Given the description of an element on the screen output the (x, y) to click on. 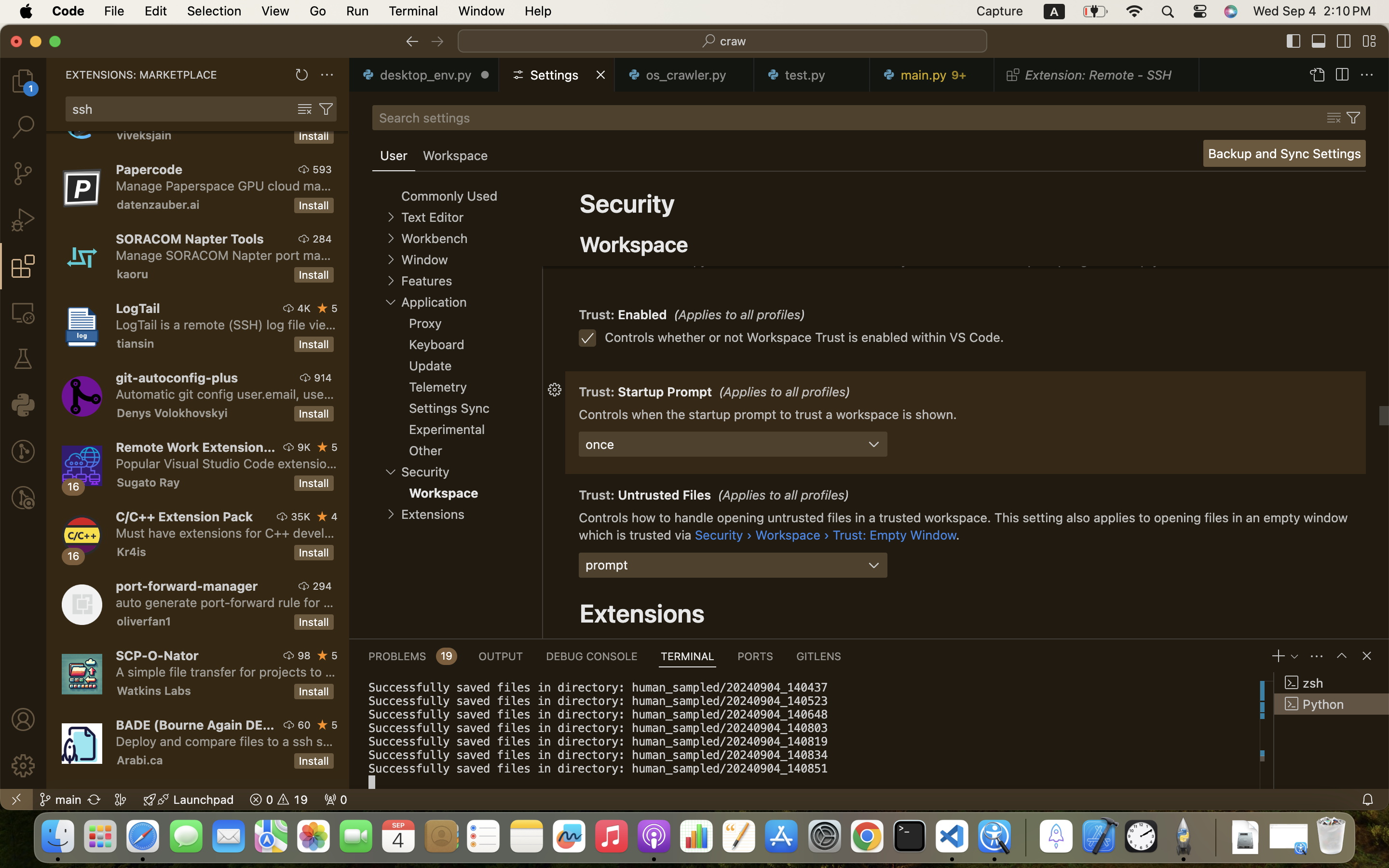
593 Element type: AXStaticText (321, 168)
Python  Element type: AXGroup (1331, 703)
 Element type: AXGroup (23, 358)
Keyboard Element type: AXStaticText (436, 344)
Security Element type: AXStaticText (627, 203)
